Given the description of an element on the screen output the (x, y) to click on. 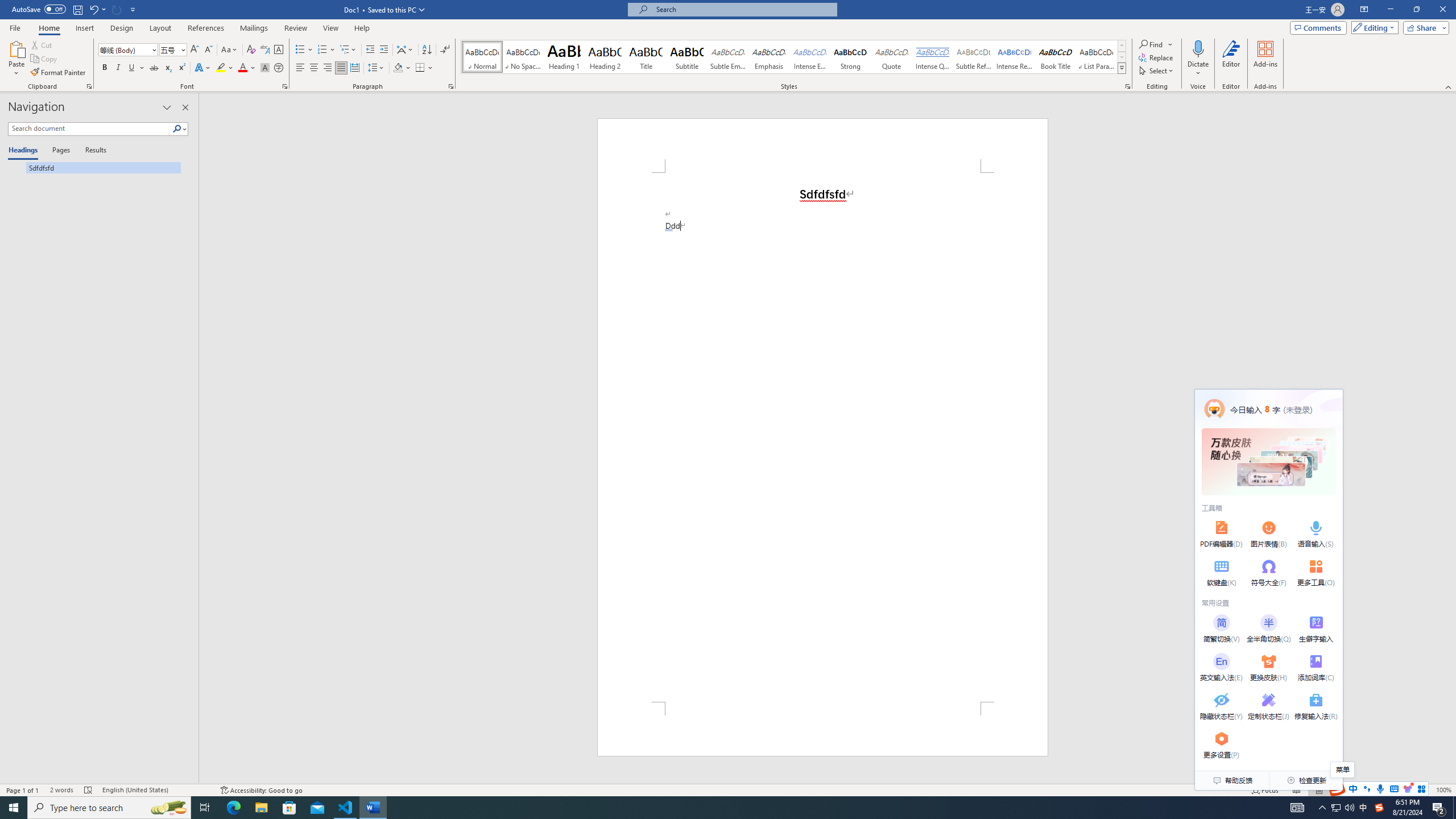
Heading 2 (605, 56)
Strong (849, 56)
